Given the description of an element on the screen output the (x, y) to click on. 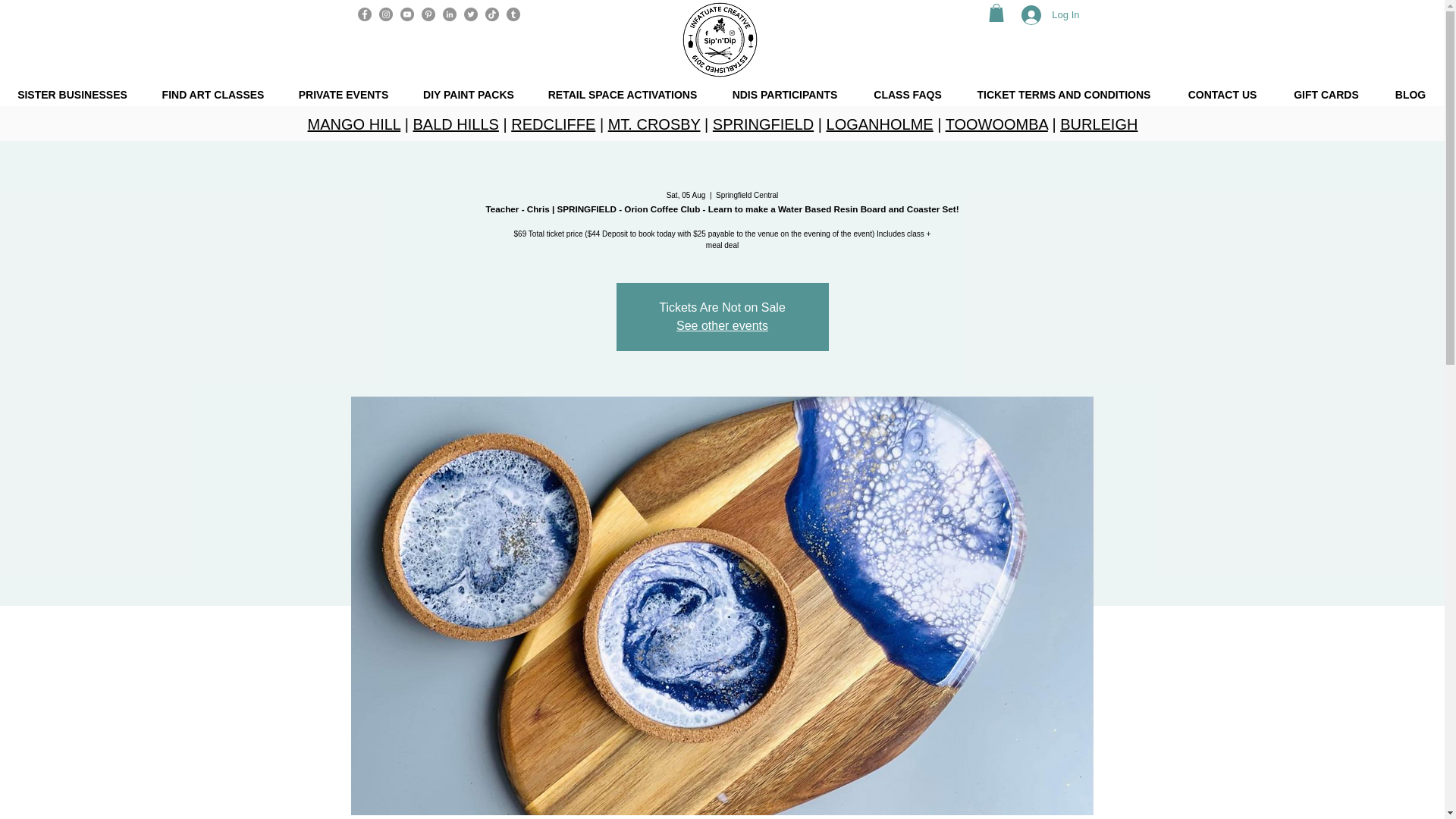
TICKET TERMS AND CONDITIONS (1064, 94)
SISTER BUSINESSES (72, 94)
Log In (1049, 14)
DIY PAINT PACKS (468, 94)
NDIS PARTICIPANTS (784, 94)
PRIVATE EVENTS (343, 94)
CONTACT US (1222, 94)
CLASS FAQS (907, 94)
RETAIL SPACE ACTIVATIONS (622, 94)
FIND ART CLASSES (212, 94)
